Given the description of an element on the screen output the (x, y) to click on. 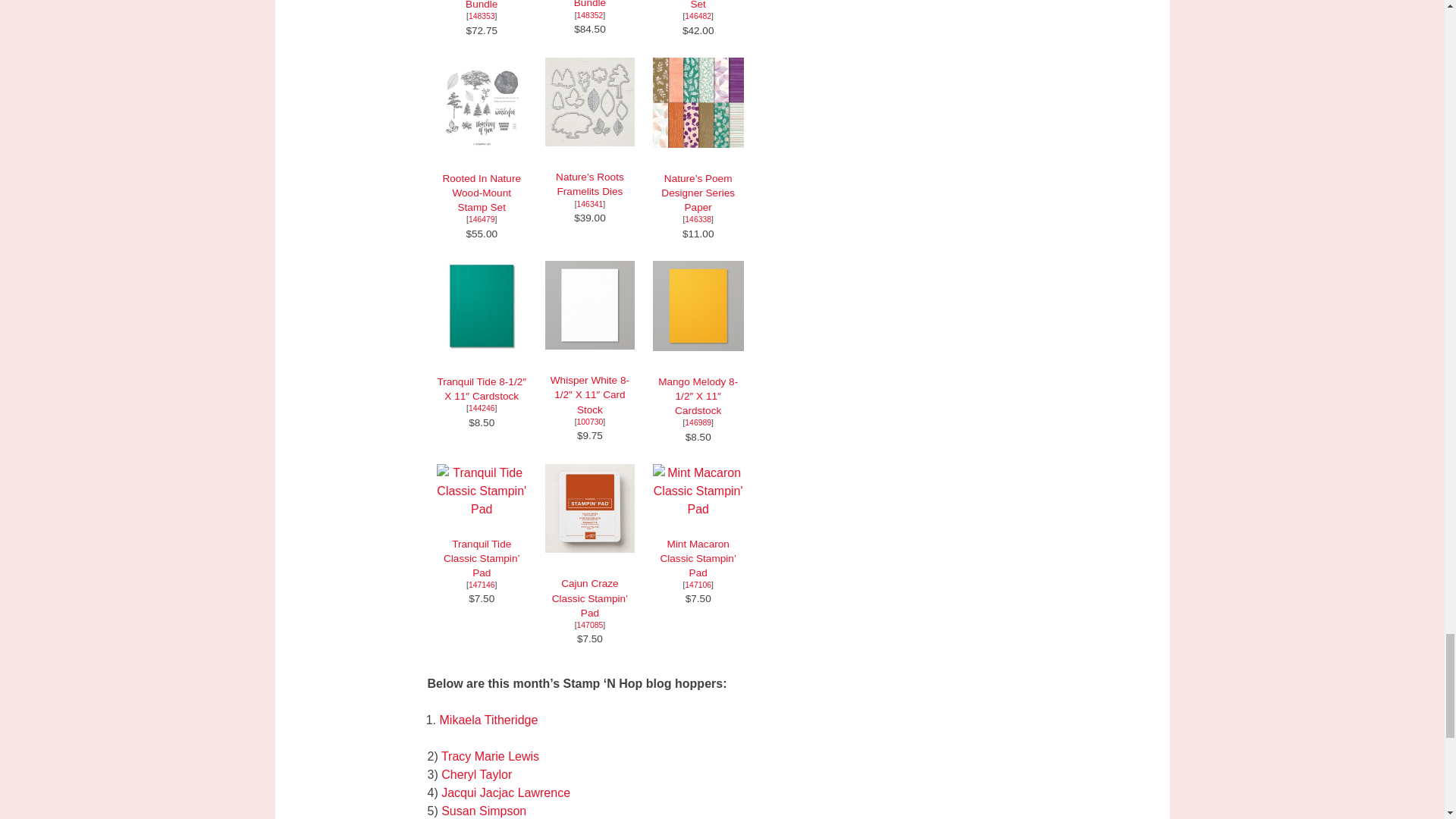
146482 (697, 16)
146338 (697, 219)
Rooted In Nature Clear-Mount Bundle (481, 4)
Rooted In Nature Wood-Mount Bundle (590, 15)
148352 (590, 15)
Rooted In Nature Clear-Mount Bundle (481, 4)
146341 (590, 203)
Rooted In Nature Wood-Mount Bundle (589, 4)
Rooted In Nature Clear-Mount Bundle (481, 16)
Rooted In Nature Wood-Mount Stamp Set (481, 192)
